Given the description of an element on the screen output the (x, y) to click on. 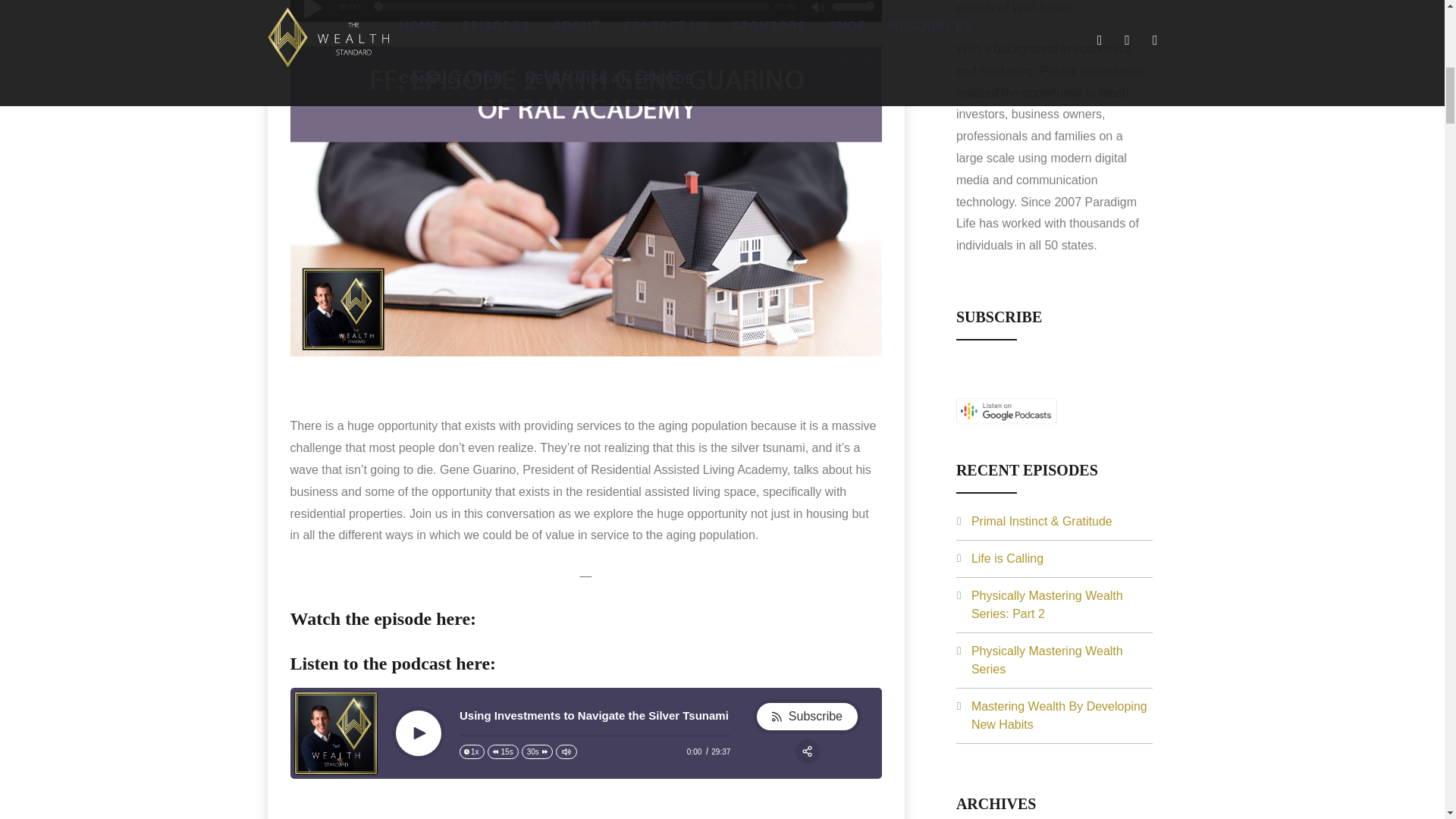
Play (312, 11)
Mute (818, 8)
